Given the description of an element on the screen output the (x, y) to click on. 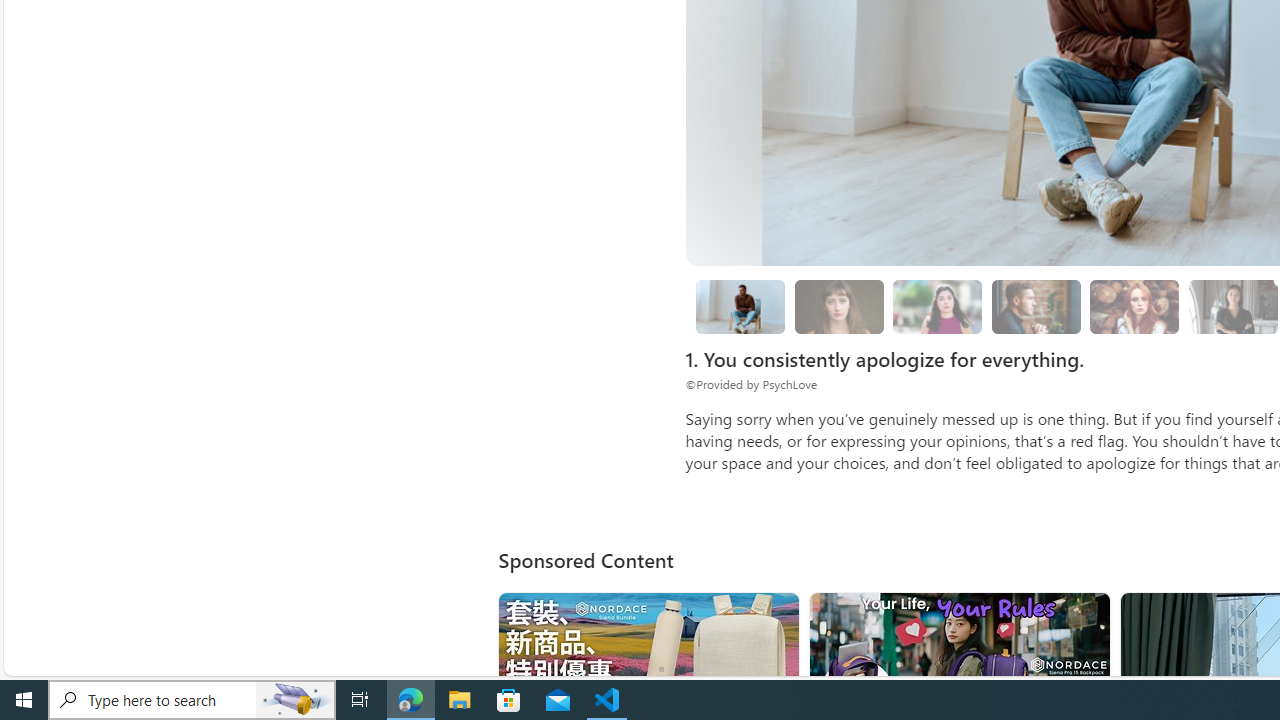
3. Put some thought into it. (740, 307)
4. You can name and understand your feelings. (937, 306)
Class: progress (1134, 303)
4. You can name and understand your feelings. (938, 307)
8. Surround yourself with solution-oriented people. (1232, 307)
3. Put some thought into it. (740, 306)
